Given the description of an element on the screen output the (x, y) to click on. 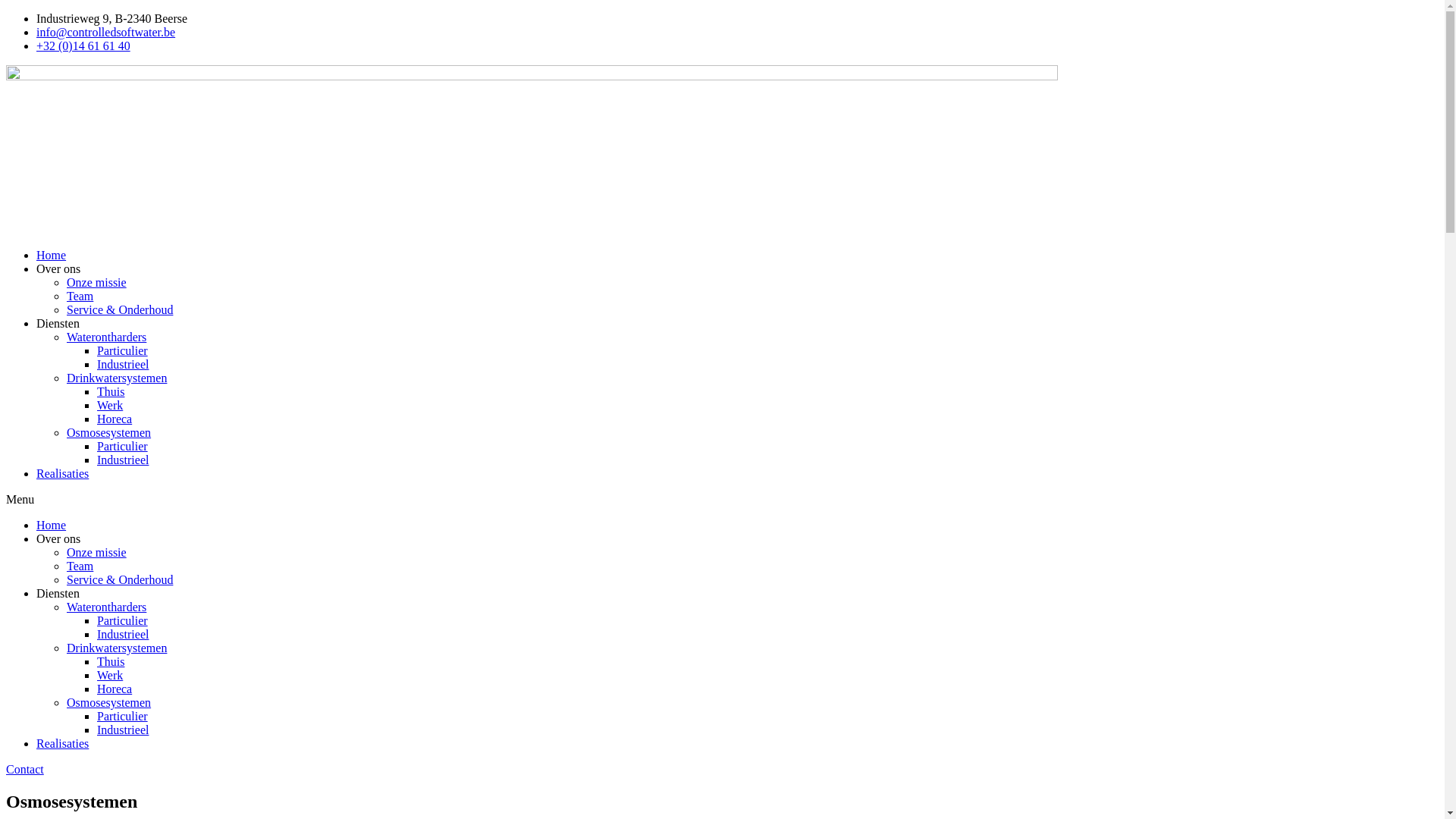
Home Element type: text (50, 524)
Werk Element type: text (109, 674)
Particulier Element type: text (122, 620)
Team Element type: text (79, 295)
Spring naar de inhoud Element type: text (5, 11)
Diensten Element type: text (57, 322)
Particulier Element type: text (122, 715)
Over ons Element type: text (58, 268)
Contact Element type: text (24, 768)
Drinkwatersystemen Element type: text (116, 647)
Realisaties Element type: text (62, 473)
Particulier Element type: text (122, 445)
Onze missie Element type: text (96, 282)
Drinkwatersystemen Element type: text (116, 377)
+32 (0)14 61 61 40 Element type: text (83, 45)
Over ons Element type: text (58, 538)
Industrieel Element type: text (122, 633)
Waterontharders Element type: text (106, 606)
Werk Element type: text (109, 404)
Horeca Element type: text (114, 688)
Service & Onderhoud Element type: text (119, 579)
Thuis Element type: text (110, 391)
info@controlledsoftwater.be Element type: text (105, 31)
Onze missie Element type: text (96, 552)
Thuis Element type: text (110, 661)
Osmosesystemen Element type: text (108, 432)
Team Element type: text (79, 565)
Horeca Element type: text (114, 418)
Industrieel Element type: text (122, 363)
Diensten Element type: text (57, 592)
Osmosesystemen Element type: text (108, 702)
Realisaties Element type: text (62, 743)
Service & Onderhoud Element type: text (119, 309)
Industrieel Element type: text (122, 459)
Industrieel Element type: text (122, 729)
Home Element type: text (50, 254)
Waterontharders Element type: text (106, 336)
Particulier Element type: text (122, 350)
